Given the description of an element on the screen output the (x, y) to click on. 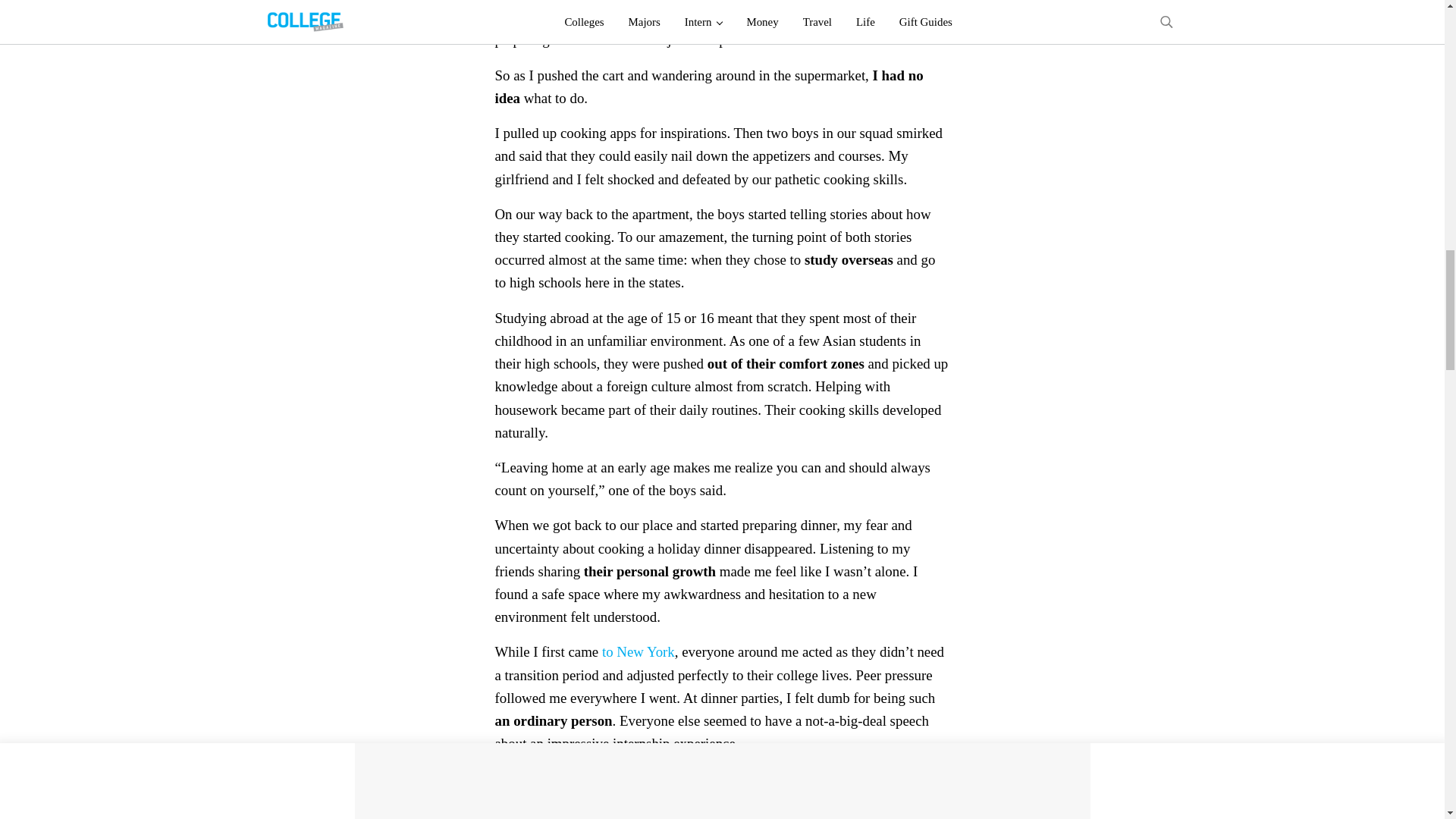
to New York (638, 651)
